Given the description of an element on the screen output the (x, y) to click on. 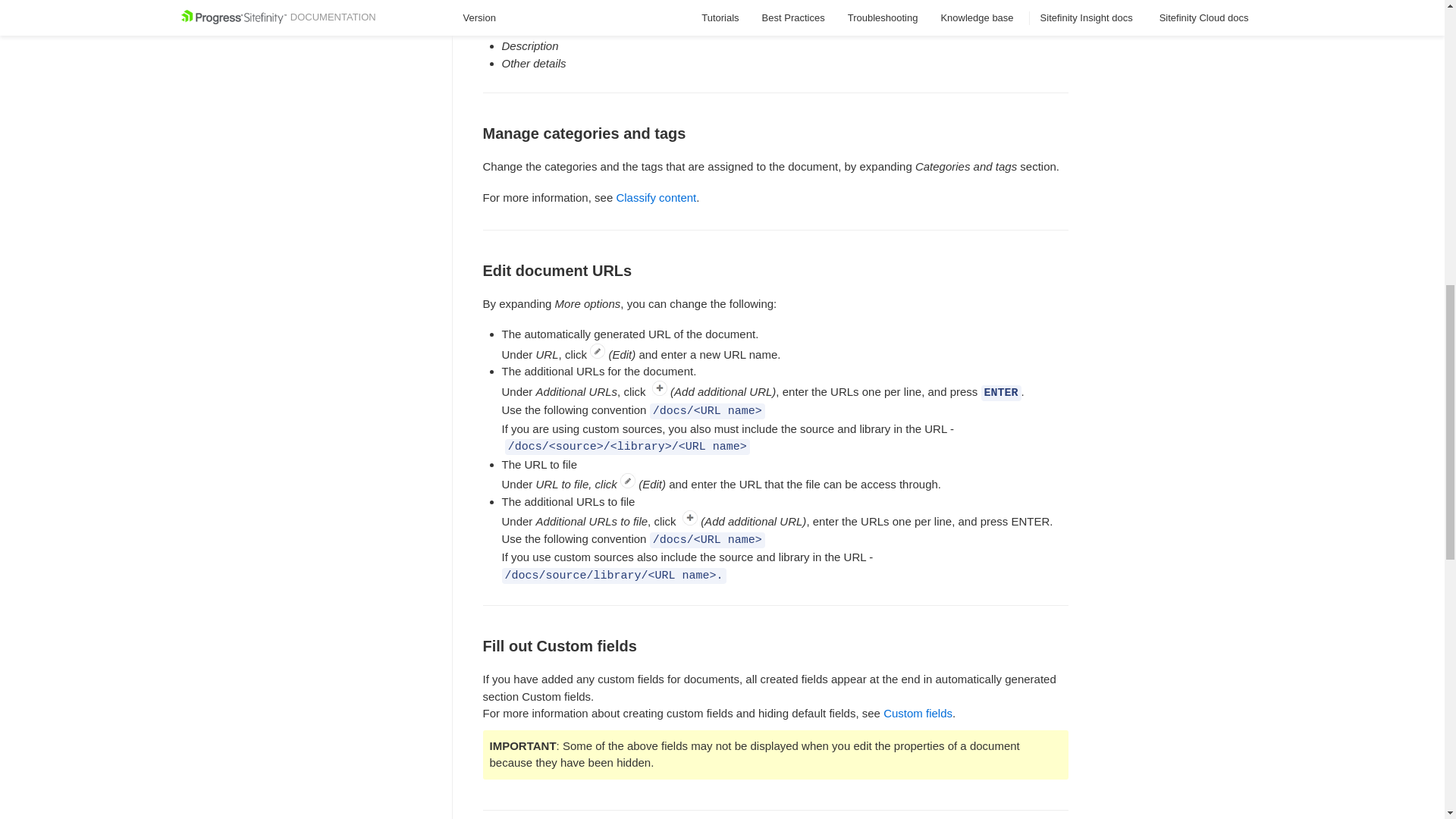
Classify content (655, 196)
Edit (627, 480)
Edit (597, 350)
Add (659, 387)
Edit document URLs (774, 225)
Manage categories and tags (774, 89)
Add (689, 517)
